Given the description of an element on the screen output the (x, y) to click on. 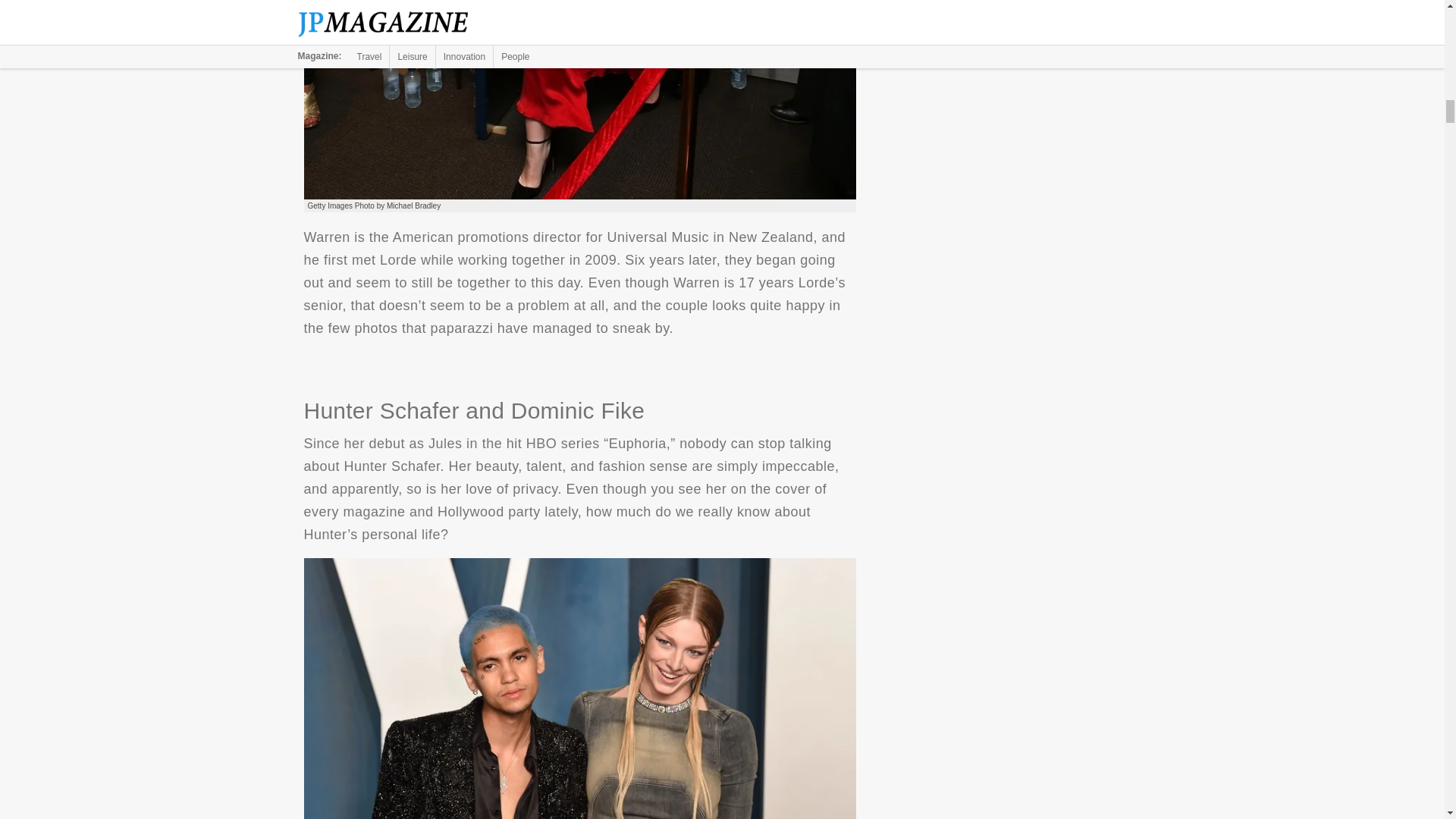
Lorde and Justin Warren (579, 99)
